Given the description of an element on the screen output the (x, y) to click on. 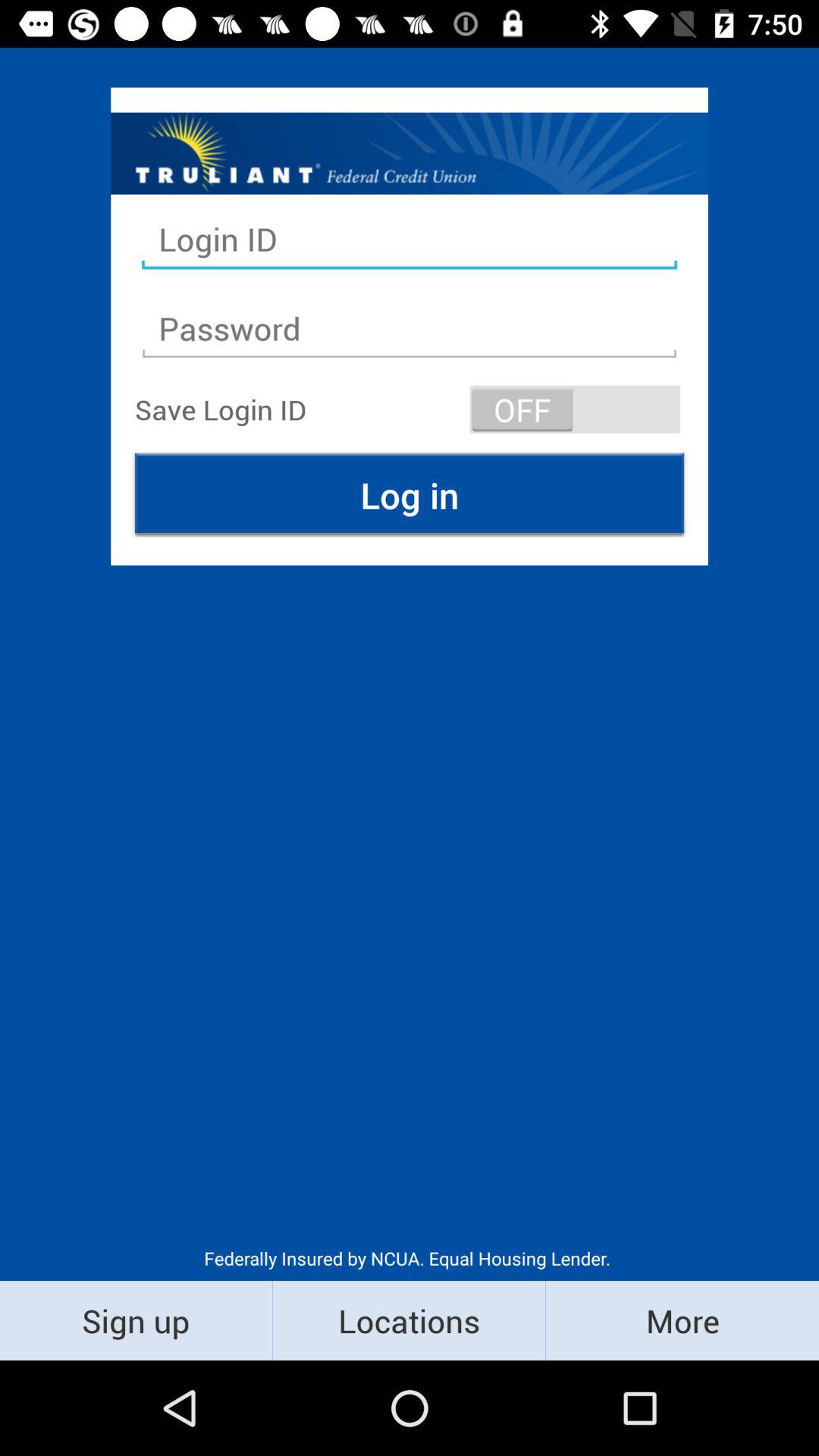
press the icon next to save login id icon (574, 409)
